Given the description of an element on the screen output the (x, y) to click on. 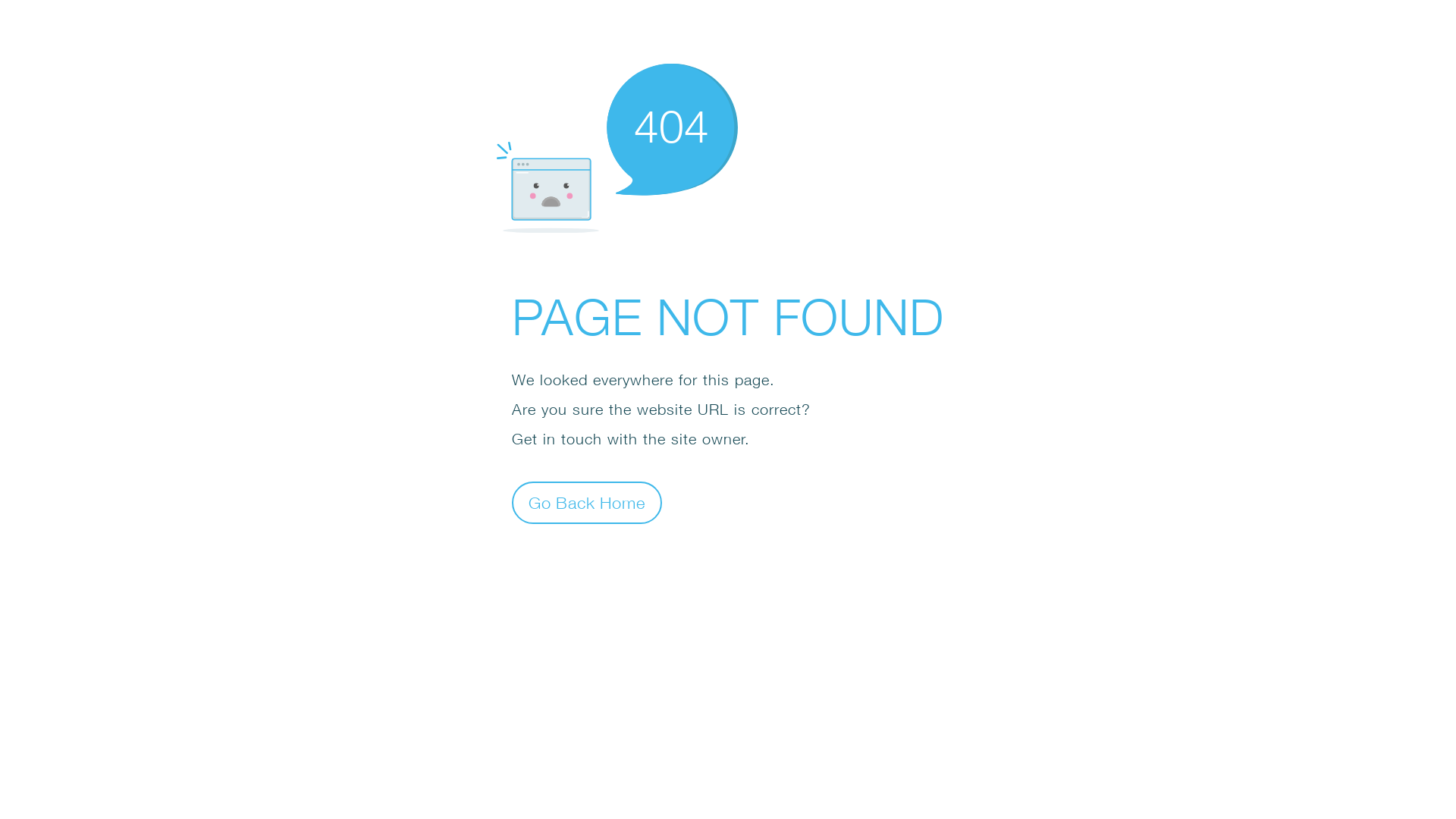
Go Back Home Element type: text (586, 502)
